Given the description of an element on the screen output the (x, y) to click on. 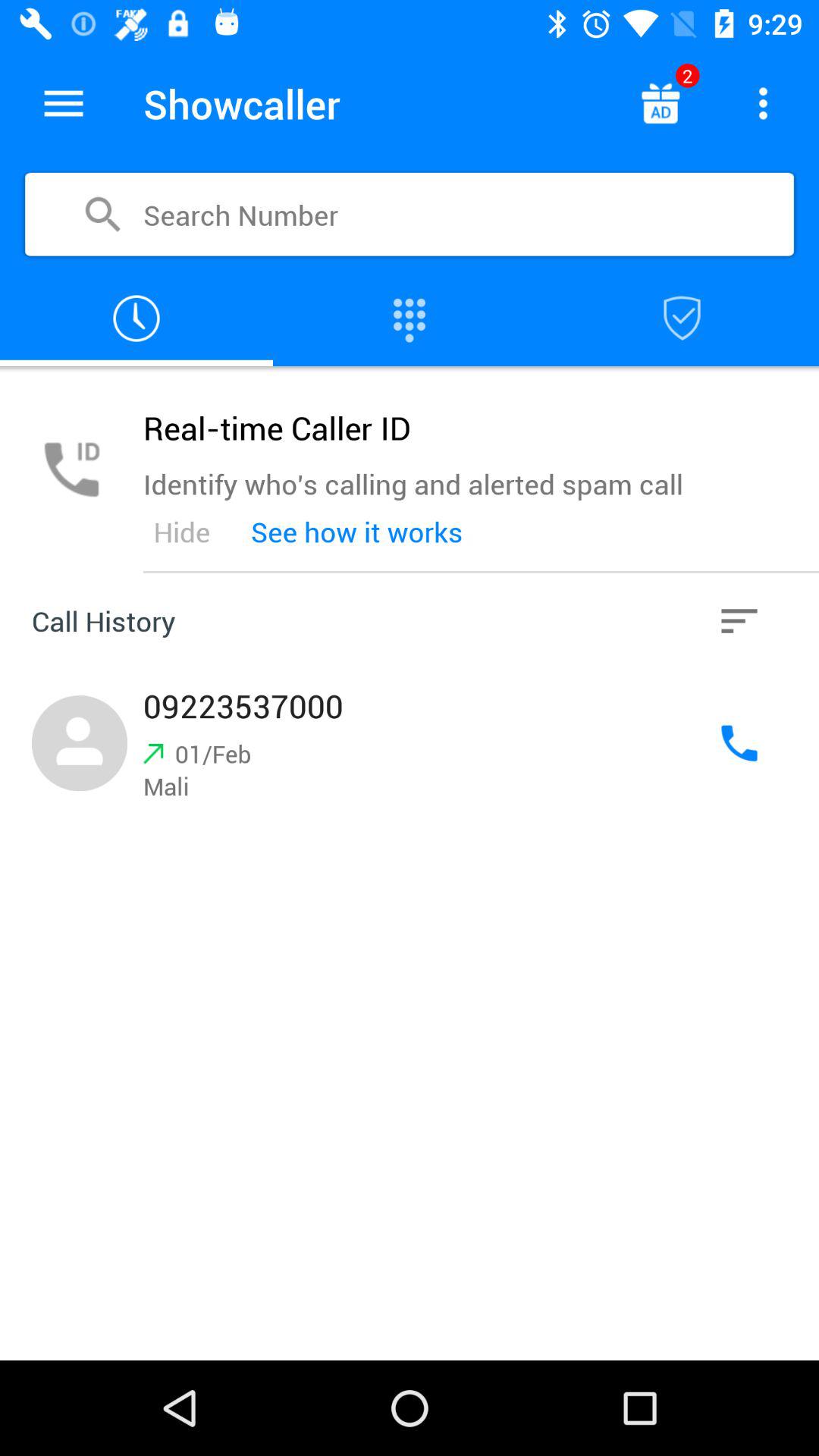
turn on icon next to the showcaller item (659, 103)
